Given the description of an element on the screen output the (x, y) to click on. 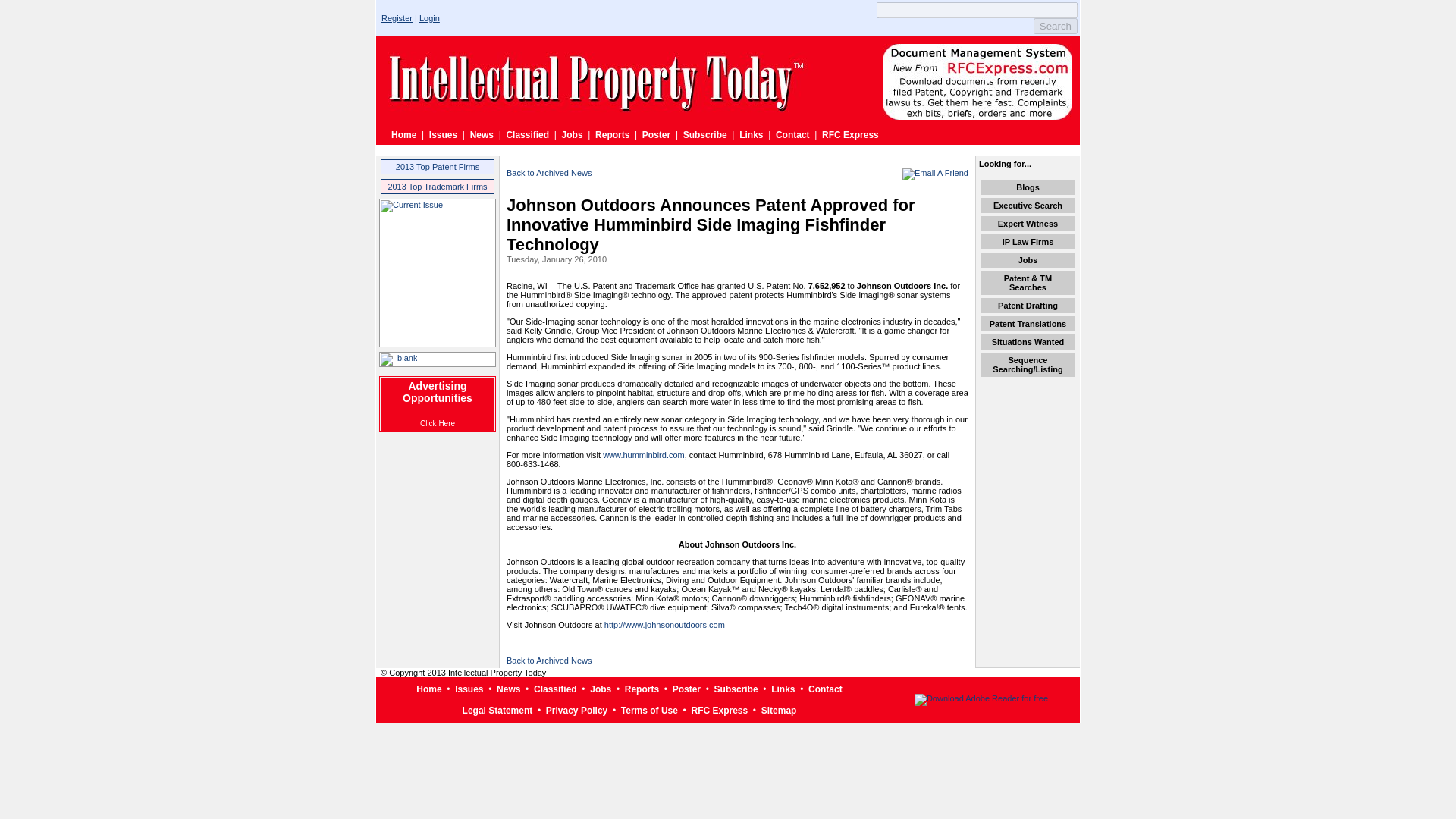
Reports (611, 134)
RFC Express (850, 134)
Classified (526, 134)
Home (428, 688)
Patent Translations (1027, 323)
Login (429, 17)
Executive Search (1027, 204)
News (507, 688)
2013 Top Patent Firms (437, 166)
Search (1055, 26)
